Given the description of an element on the screen output the (x, y) to click on. 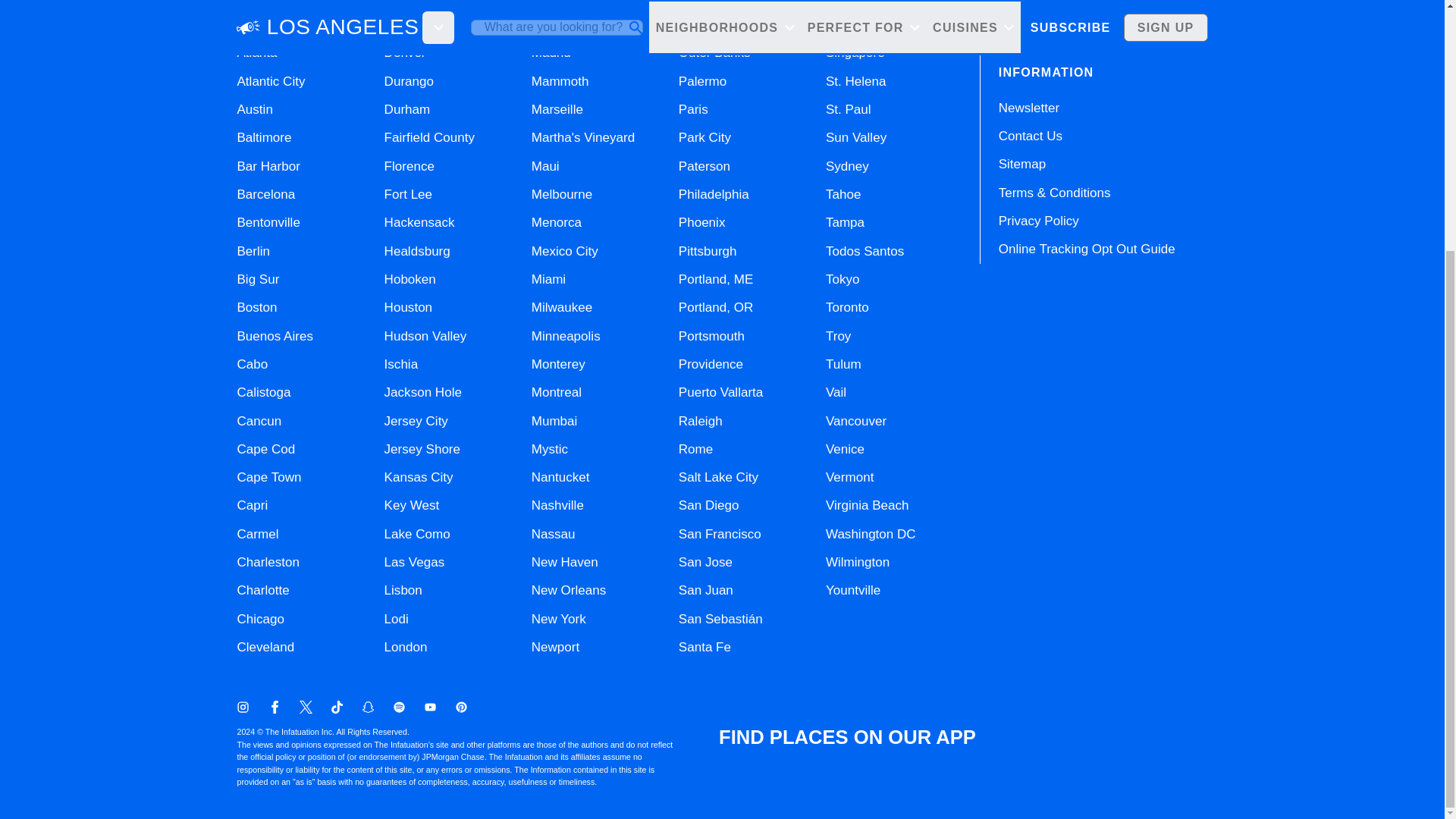
Big Sur (257, 278)
Calistoga (262, 391)
Cancun (258, 421)
Atlanta (255, 52)
Carmel (256, 534)
Baltimore (263, 137)
Berlin (252, 251)
Aspen (254, 24)
Bar Harbor (267, 165)
Austin (253, 109)
